Given the description of an element on the screen output the (x, y) to click on. 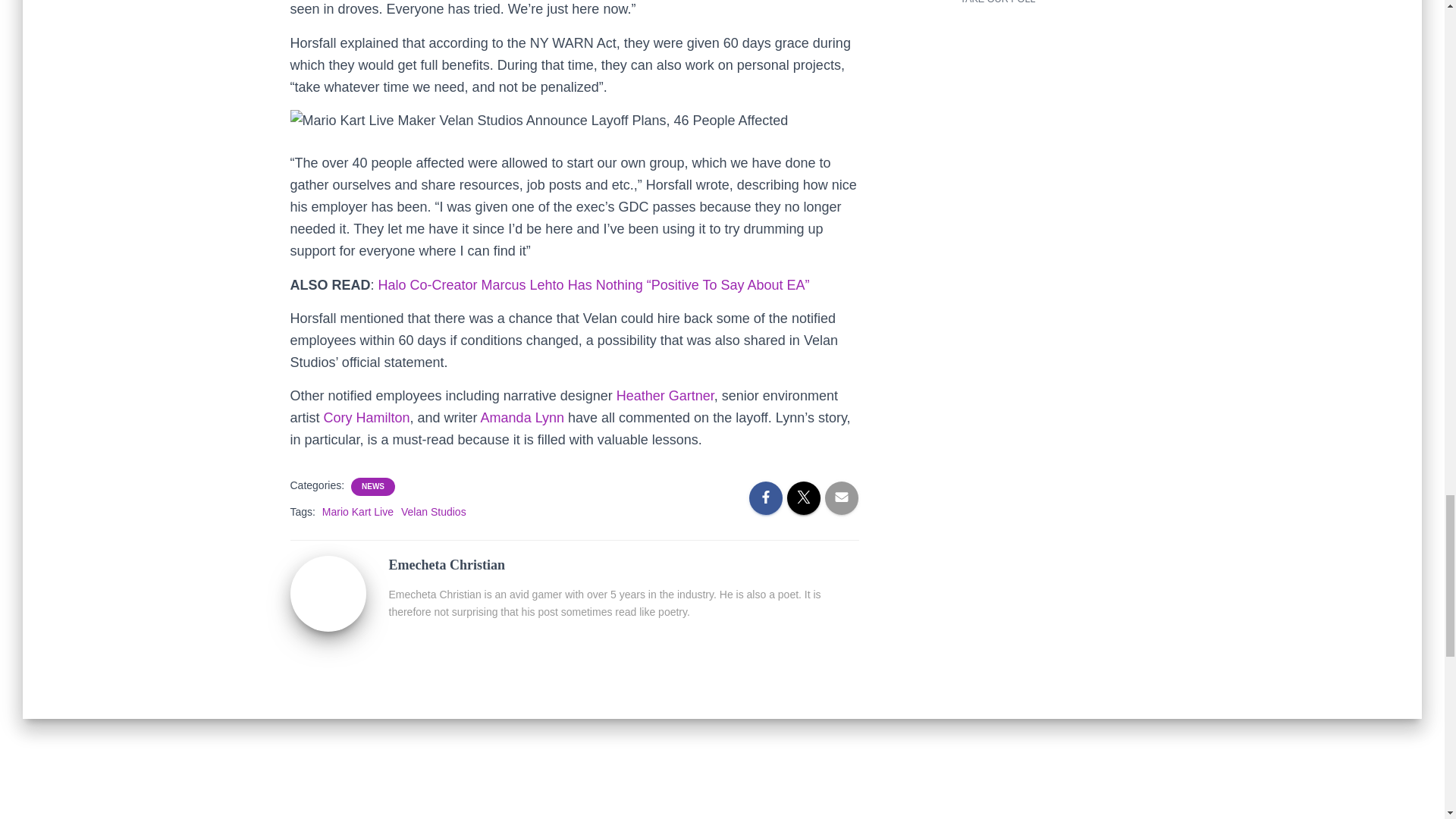
Velan Studios (433, 511)
NEWS (372, 486)
Heather Gartner (664, 395)
Emecheta Christian (327, 592)
Mario Kart Live (357, 511)
Amanda Lynn (522, 417)
Cory Hamilton (366, 417)
